Given the description of an element on the screen output the (x, y) to click on. 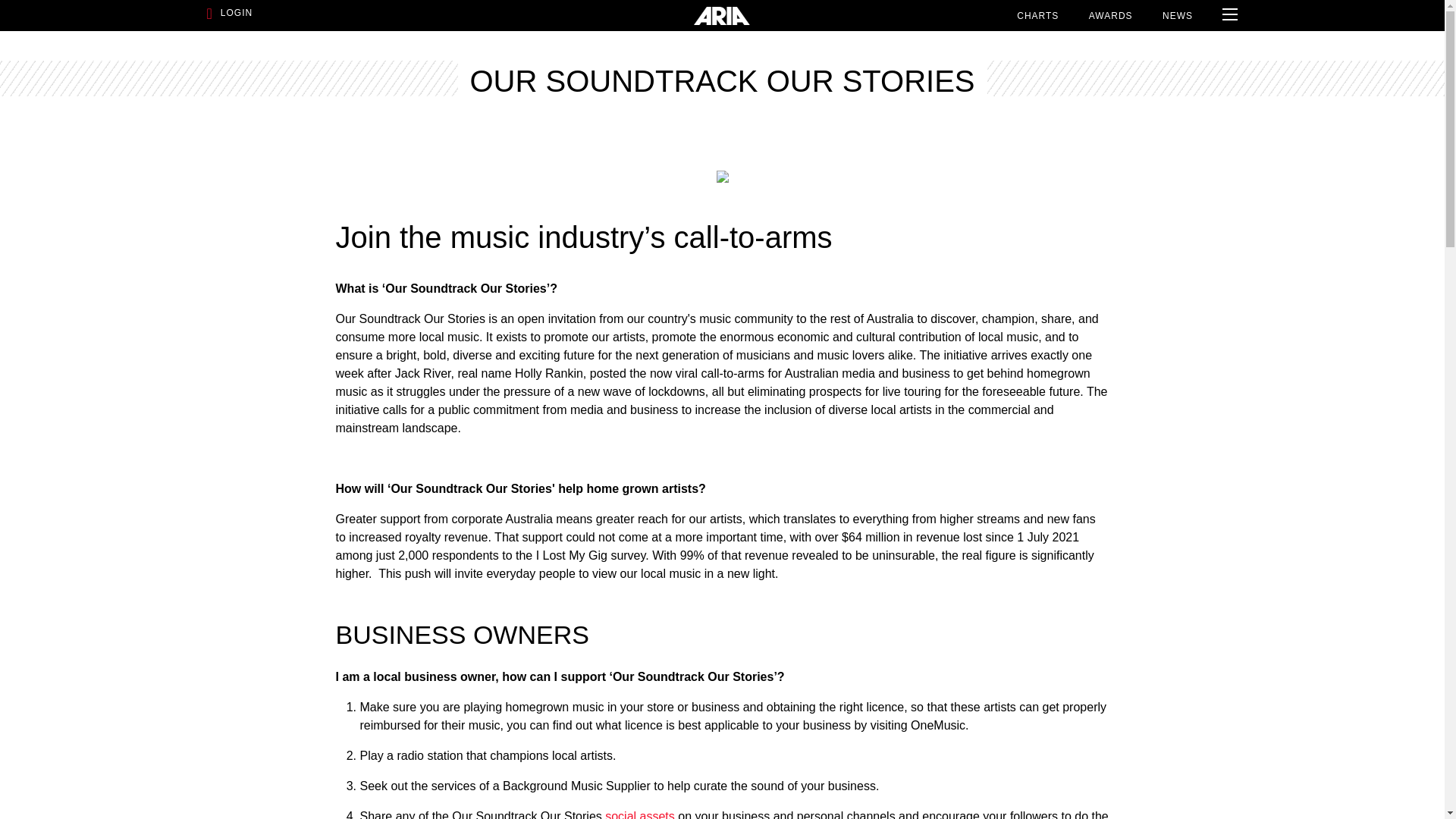
NEWS (1176, 14)
AWARDS (1110, 14)
CHARTS (1037, 14)
LOGIN (364, 15)
social assets (640, 814)
